Given the description of an element on the screen output the (x, y) to click on. 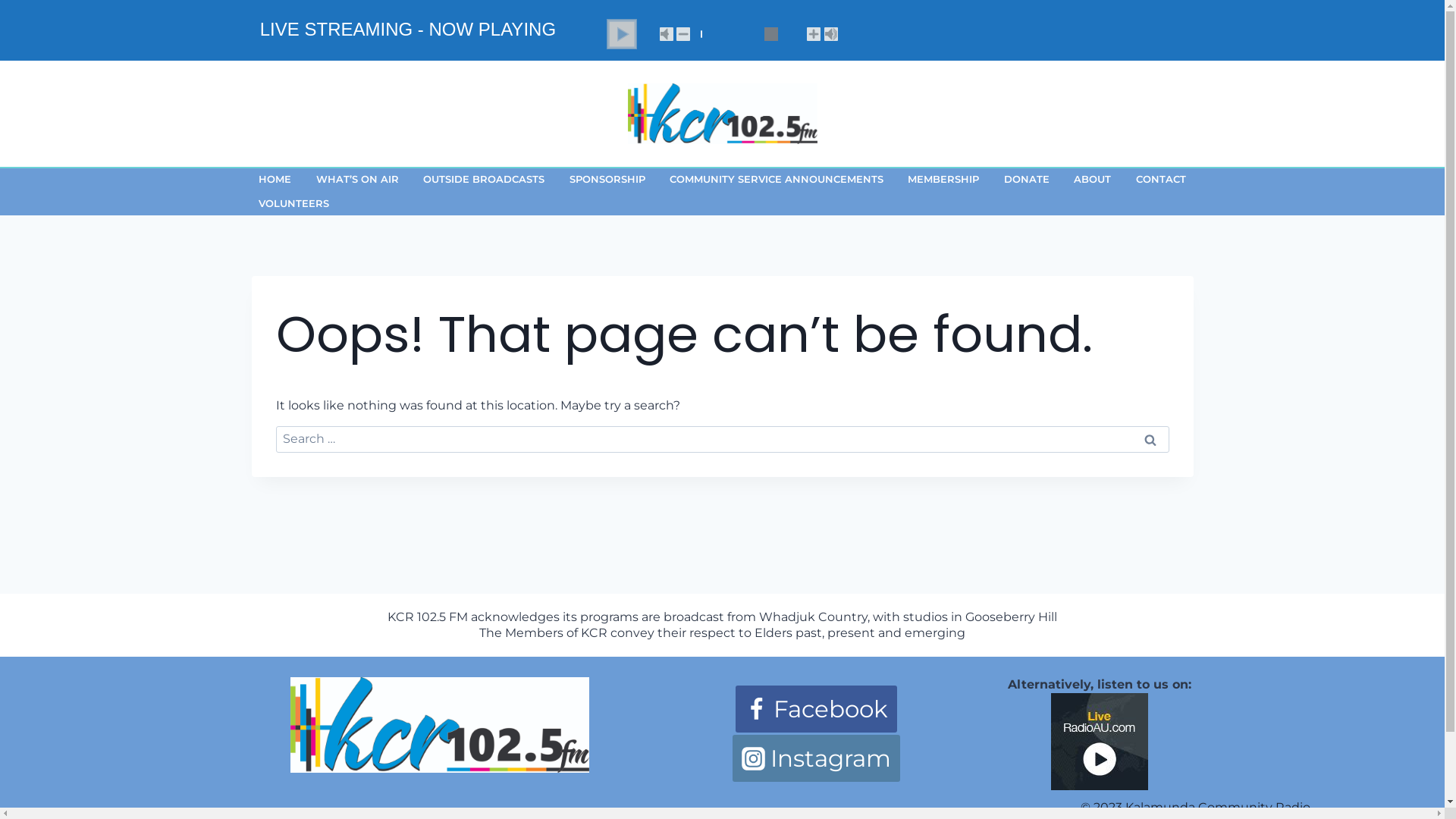
VOLUNTEERS Element type: text (294, 203)
MEMBERSHIP Element type: text (943, 179)
+ Element type: text (813, 33)
LiveradioAU.com Element type: hover (1099, 749)
Instagram Element type: text (816, 757)
OUTSIDE BROADCASTS Element type: text (483, 179)
Max Element type: text (830, 33)
SPONSORSHIP Element type: text (606, 179)
Facebook Element type: text (816, 708)
Search Element type: text (1150, 439)
HOME Element type: text (275, 179)
- Element type: text (683, 33)
DONATE Element type: text (1026, 179)
ABOUT Element type: text (1092, 179)
Mute Element type: text (666, 33)
COMMUNITY SERVICE ANNOUNCEMENTS Element type: text (776, 179)
CONTACT Element type: text (1160, 179)
